Given the description of an element on the screen output the (x, y) to click on. 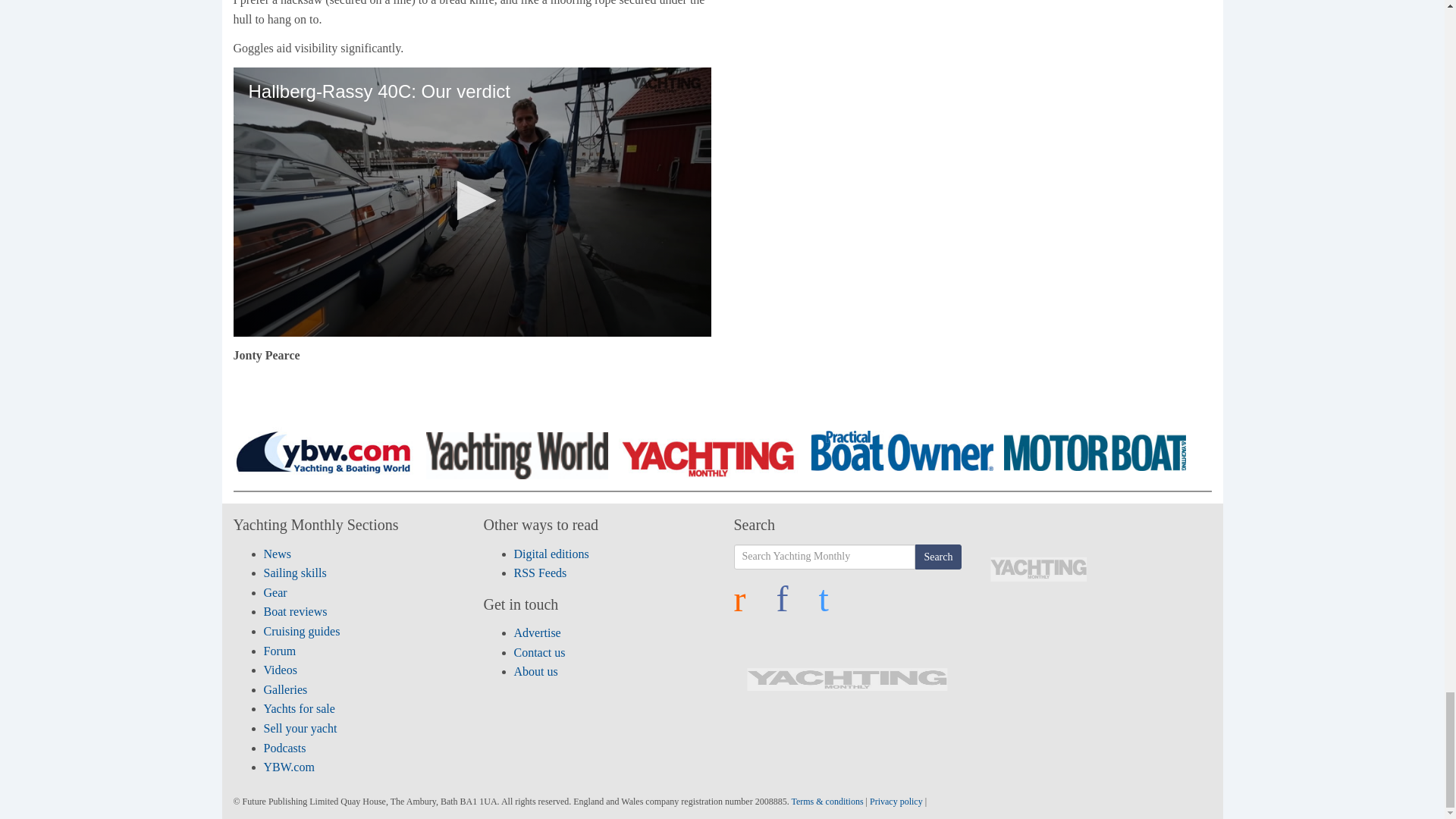
Latest Issue of Yachting Monthly (1038, 569)
